Given the description of an element on the screen output the (x, y) to click on. 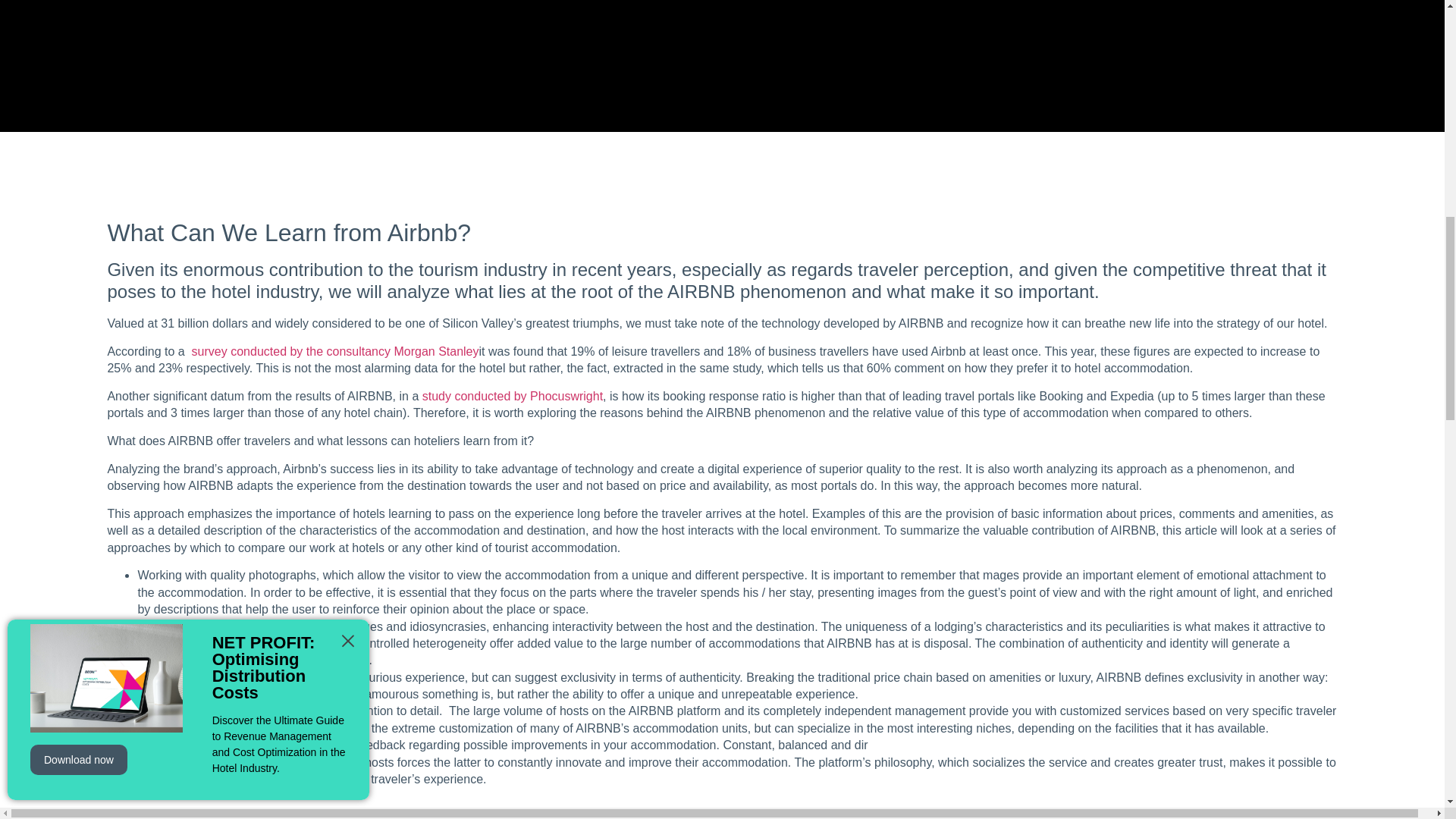
study conducted by Phocuswright (512, 395)
 survey conducted by the consultancy Morgan Stanley (333, 350)
